Given the description of an element on the screen output the (x, y) to click on. 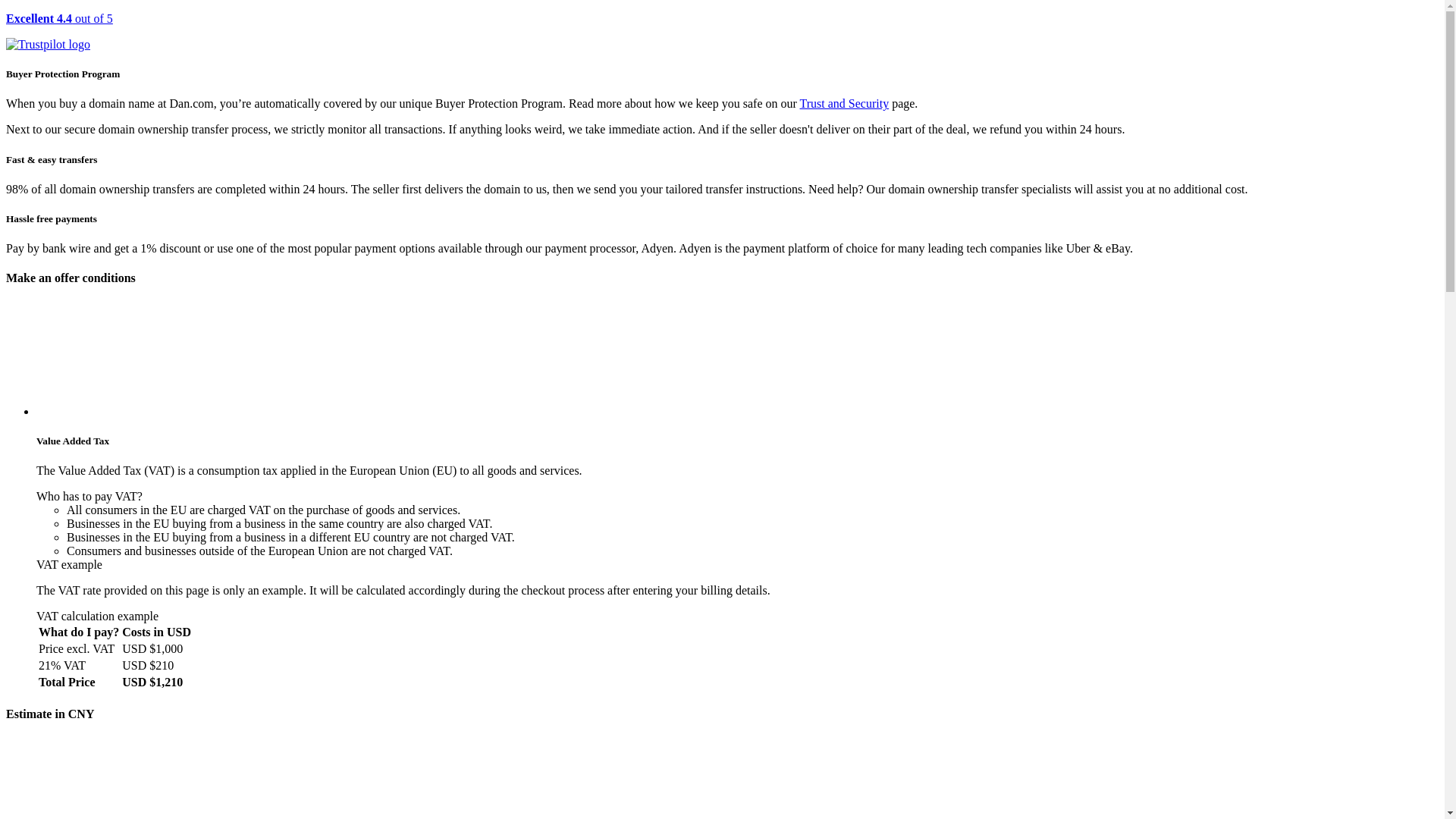
Trust and Security Element type: text (844, 103)
Excellent 4.4 out of 5 Element type: text (722, 31)
